Given the description of an element on the screen output the (x, y) to click on. 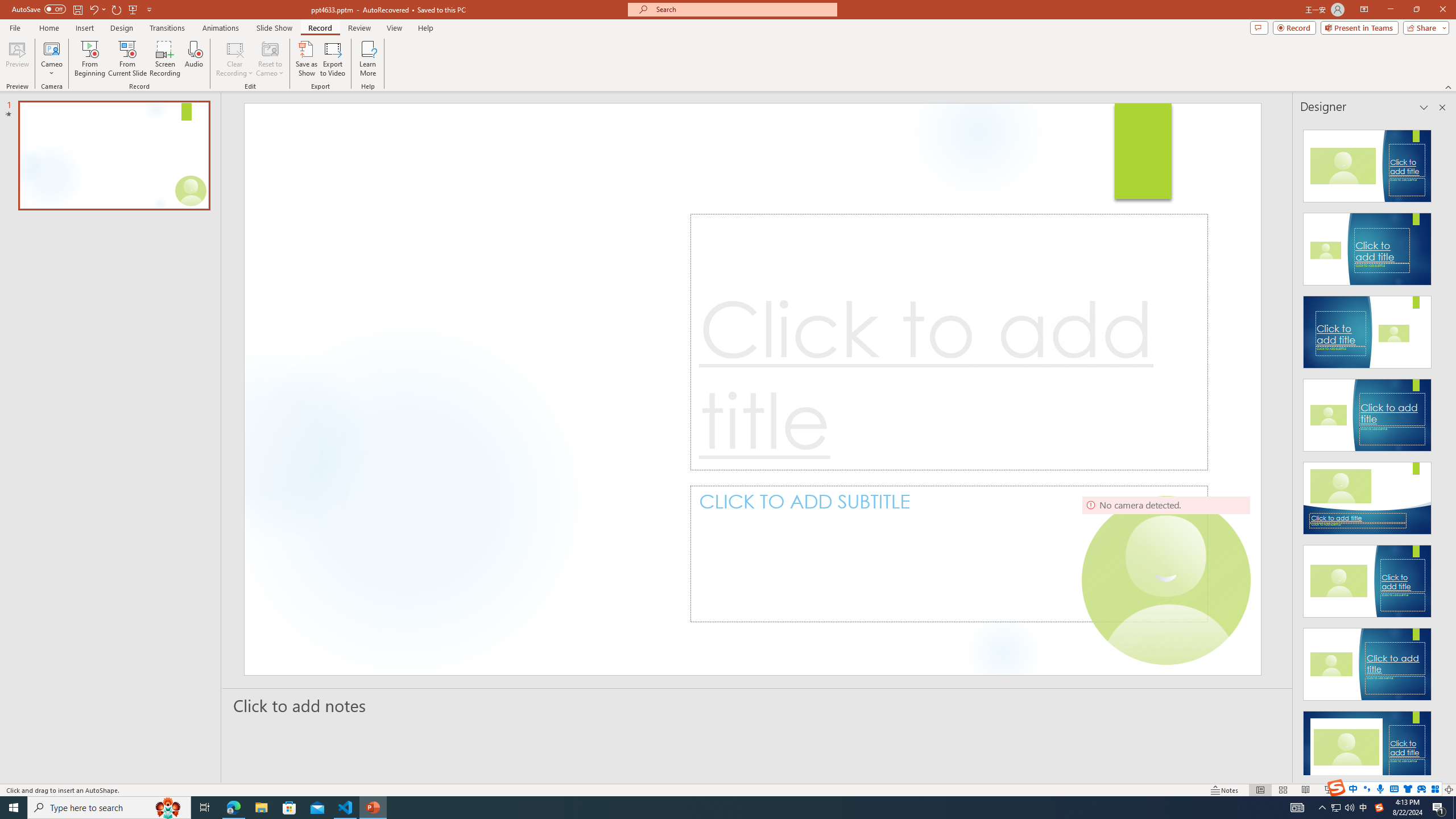
From Beginning... (89, 58)
Recommended Design: Design Idea (1366, 162)
Reset to Cameo (269, 58)
